Given the description of an element on the screen output the (x, y) to click on. 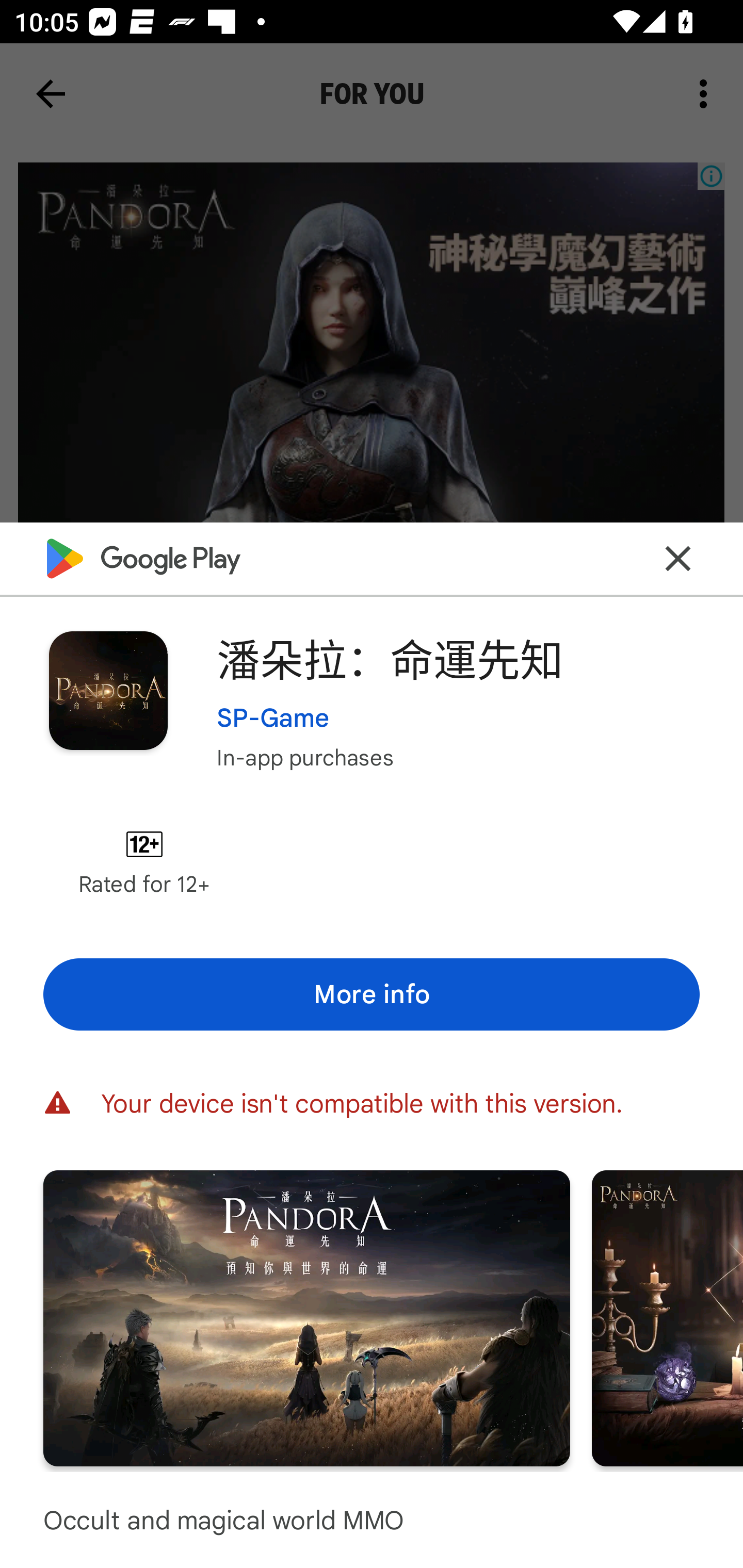
Close (677, 558)
Image of app or game icon for 潘朵拉：命運先知 (108, 690)
SP-Game (272, 716)
More info (371, 994)
Screenshot "1" of "6" (306, 1317)
